Given the description of an element on the screen output the (x, y) to click on. 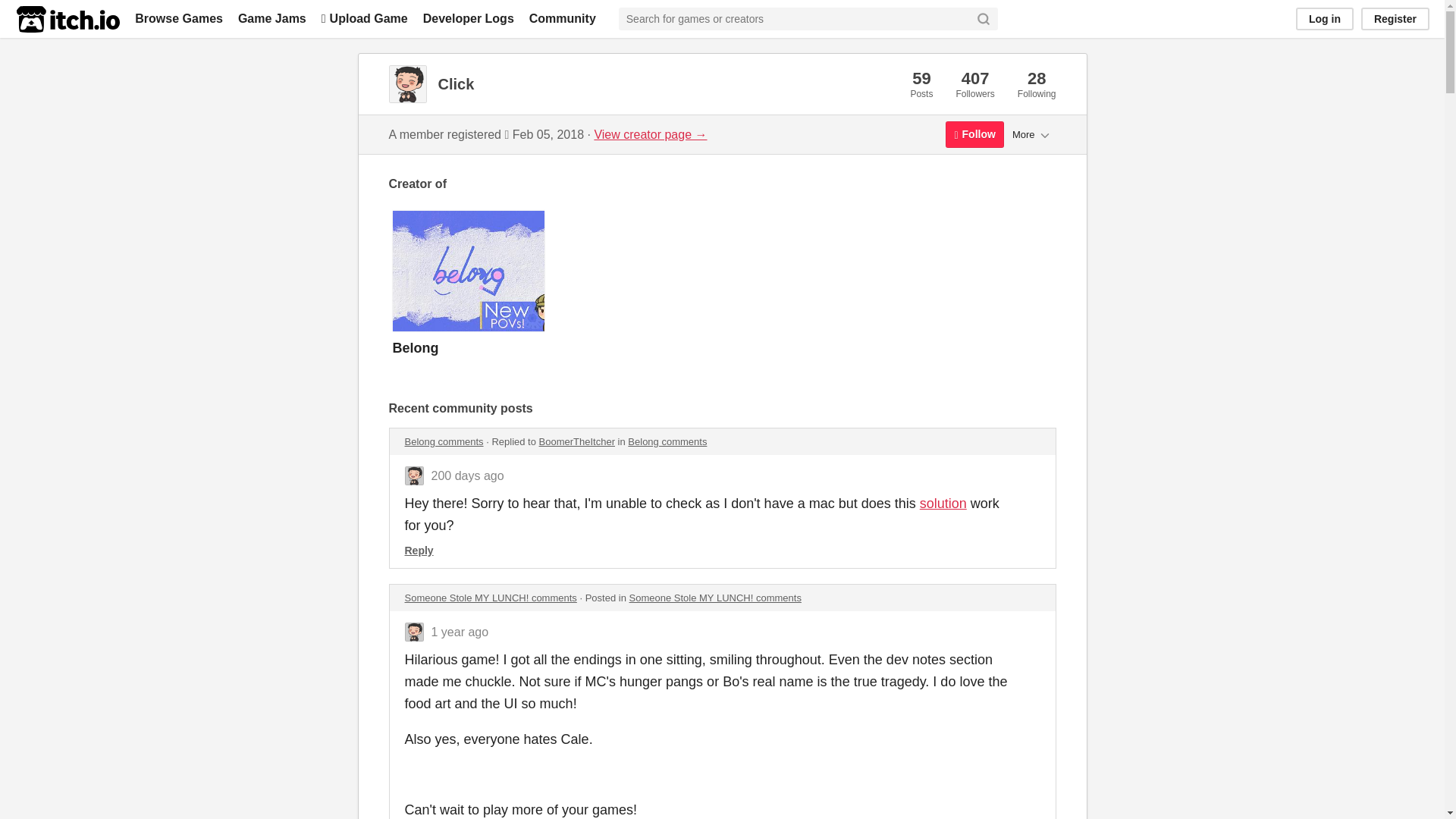
Belong (722, 291)
Belong (722, 291)
Someone Stole MY LUNCH! comments (715, 597)
Log in (1324, 18)
BoomerTheItcher (576, 441)
Reply (418, 550)
Developer Logs (468, 18)
itch.io (67, 18)
Register (1395, 18)
Belong (416, 347)
Game Jams (271, 18)
Belong comments (666, 441)
Someone Stole MY LUNCH! comments (490, 597)
2024-01-09 12:06:19 (466, 475)
Upload Game (364, 18)
